Given the description of an element on the screen output the (x, y) to click on. 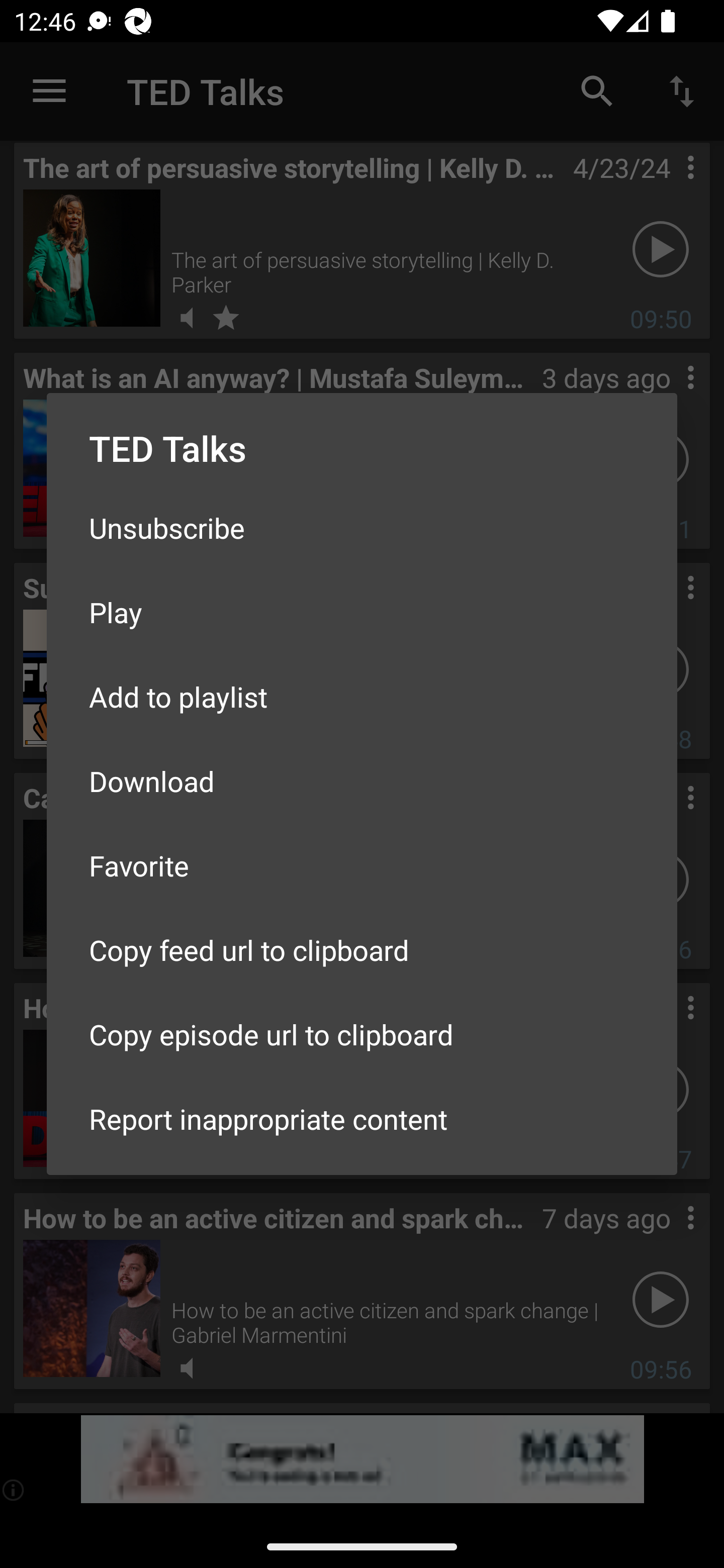
Unsubscribe (361, 527)
Play (361, 611)
Add to playlist (361, 695)
Download (361, 780)
Favorite (361, 865)
Copy feed url to clipboard (361, 949)
Copy episode url to clipboard (361, 1034)
Report inappropriate content (361, 1118)
